Given the description of an element on the screen output the (x, y) to click on. 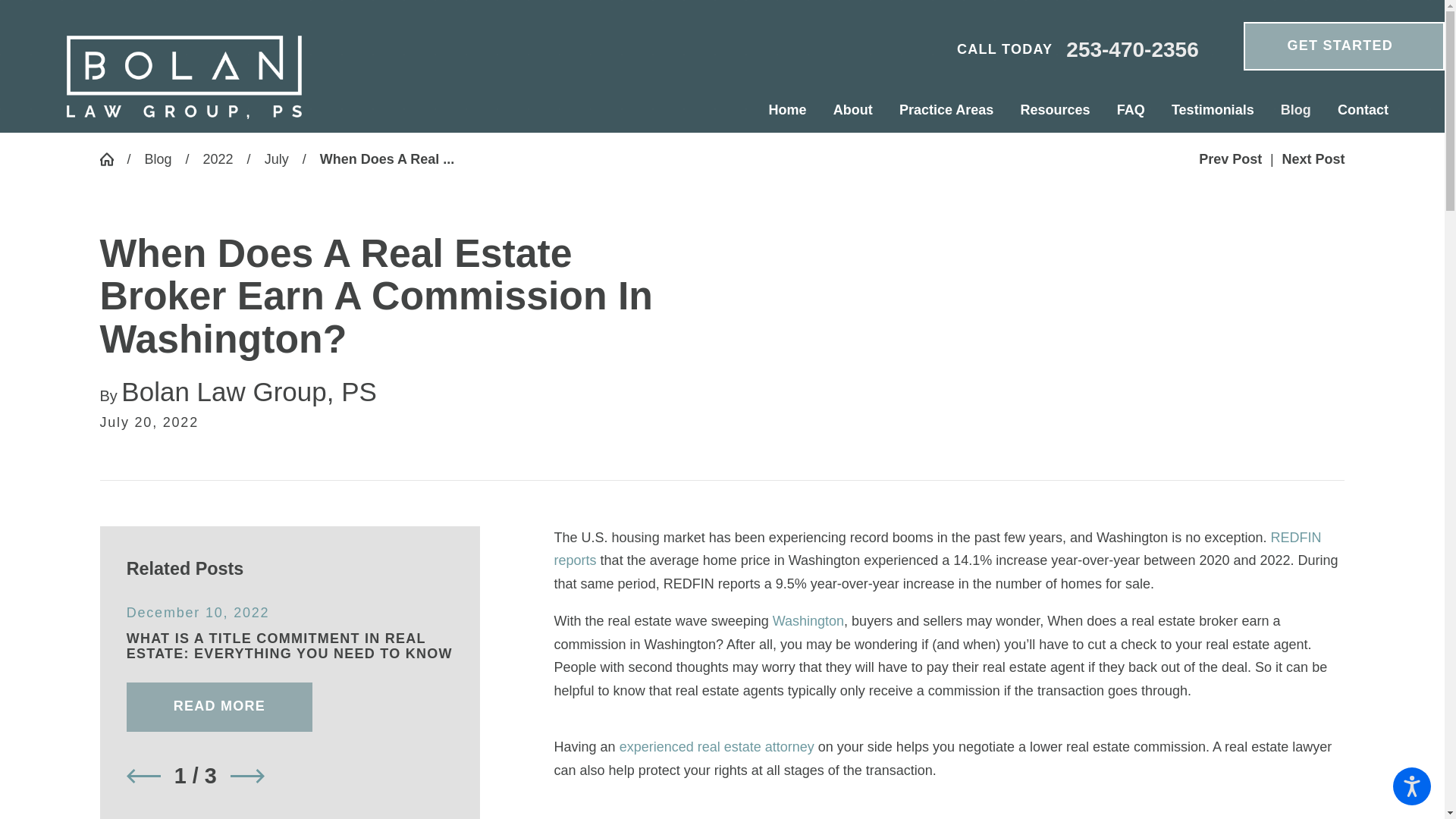
Home (794, 110)
View previous item (143, 776)
Contact (1356, 110)
View next item (247, 776)
About (852, 110)
Bolan Law Group, PS (183, 76)
Resources (1055, 110)
Go Home (114, 159)
253-470-2356 (1131, 49)
Open the accessibility options menu (1412, 786)
